Given the description of an element on the screen output the (x, y) to click on. 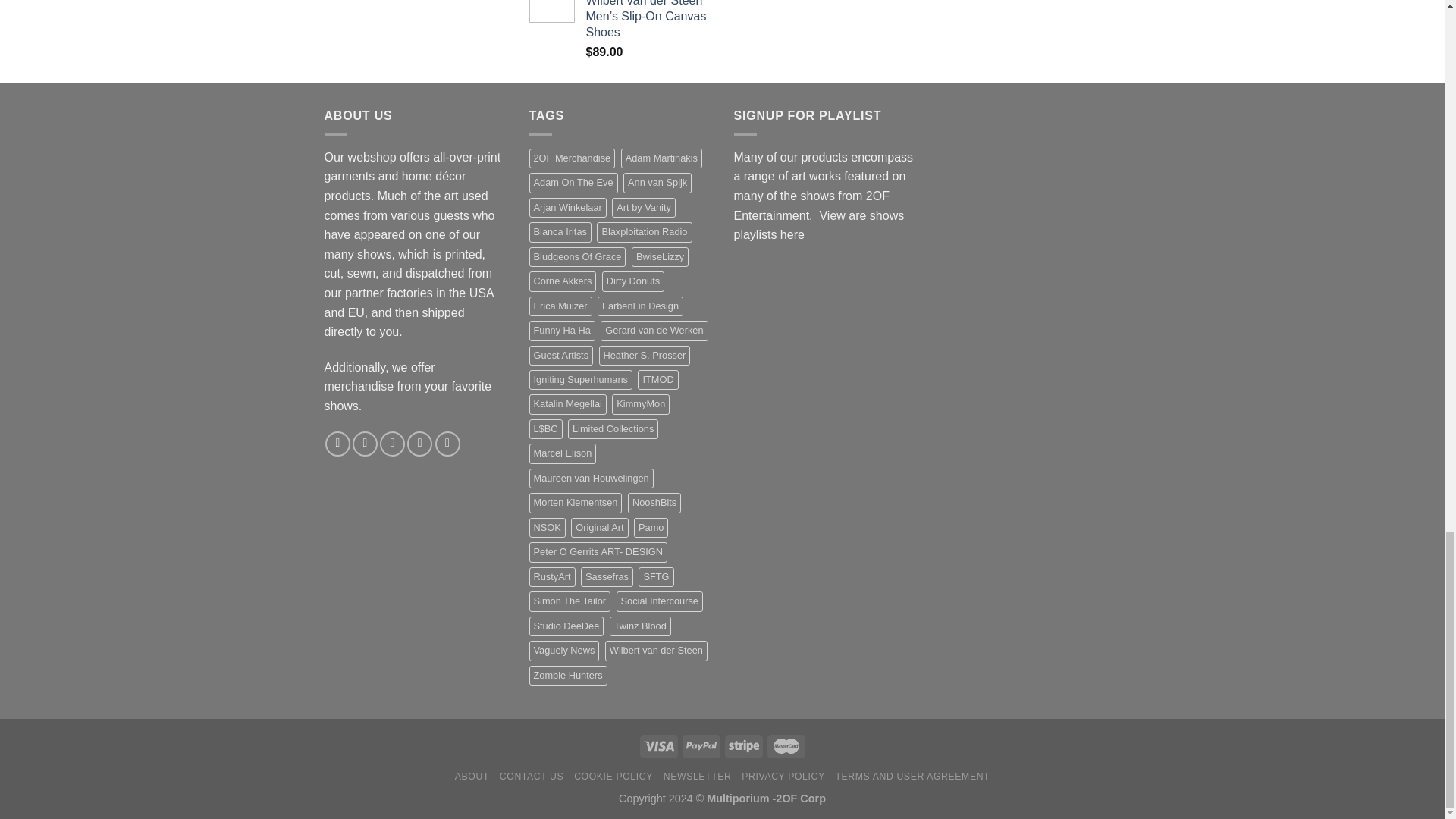
Send us an email (419, 443)
Follow on Twitter (392, 443)
Follow on Instagram (364, 443)
Follow on Pinterest (447, 443)
Follow on Facebook (337, 443)
